Given the description of an element on the screen output the (x, y) to click on. 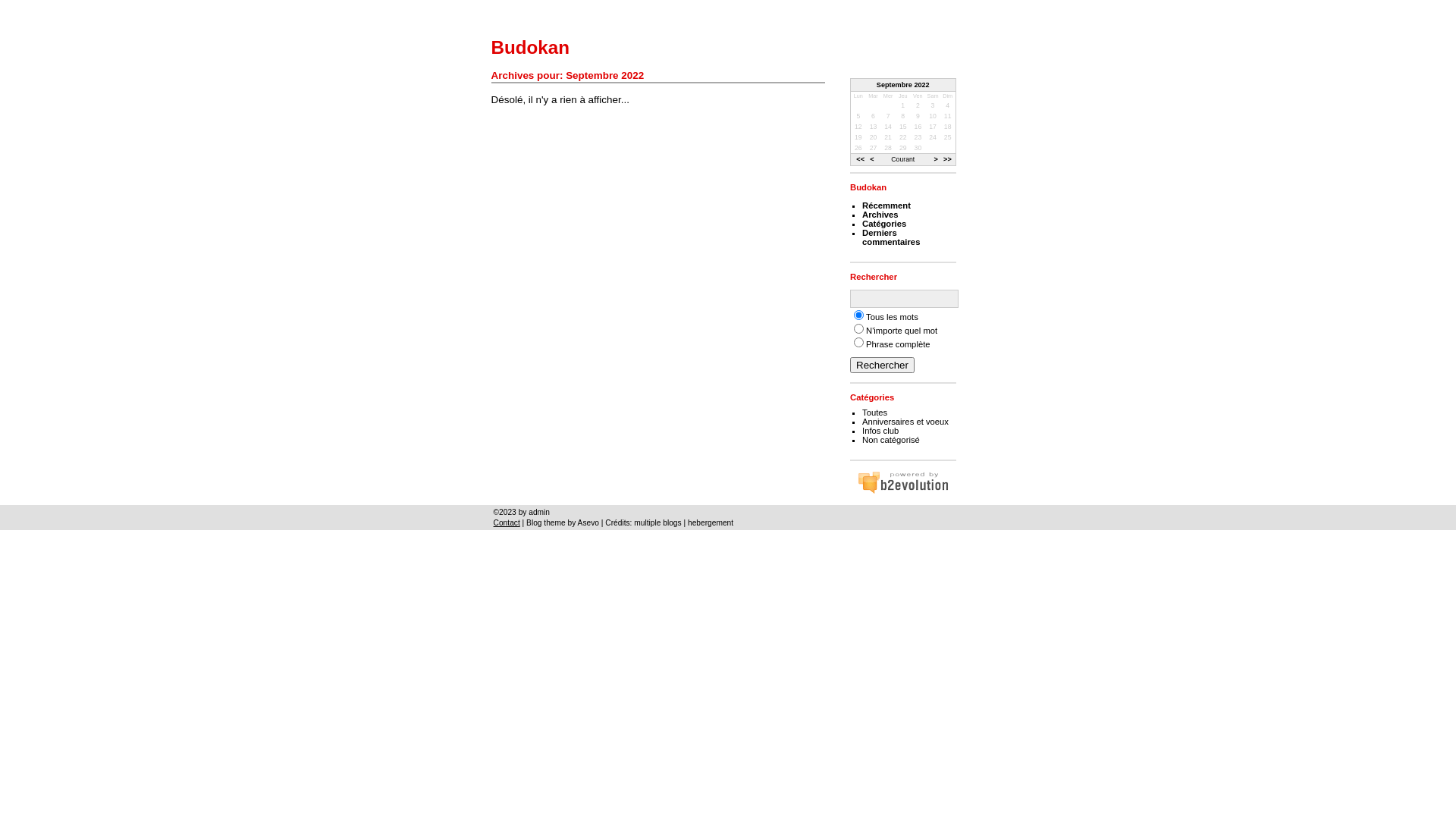
Derniers commentaires Element type: text (890, 237)
Courant Element type: text (902, 159)
Infos club Element type: text (880, 430)
Septembre 2022 Element type: text (902, 84)
<< Element type: text (860, 159)
b2evolution: next generation blog software Element type: hover (902, 482)
Archives Element type: text (880, 214)
> Element type: text (935, 159)
Rechercher Element type: text (882, 365)
Anniversaires et voeux Element type: text (905, 421)
Budokan Element type: text (868, 186)
>> Element type: text (947, 159)
Toutes Element type: text (874, 412)
< Element type: text (871, 159)
hebergement Element type: text (710, 522)
b2evolution: next generation blog software Element type: hover (902, 490)
Asevo Element type: text (588, 522)
Blog theme Element type: text (545, 522)
Budokan Element type: text (530, 47)
multiple blogs Element type: text (656, 522)
Contact Element type: text (506, 522)
